Given the description of an element on the screen output the (x, y) to click on. 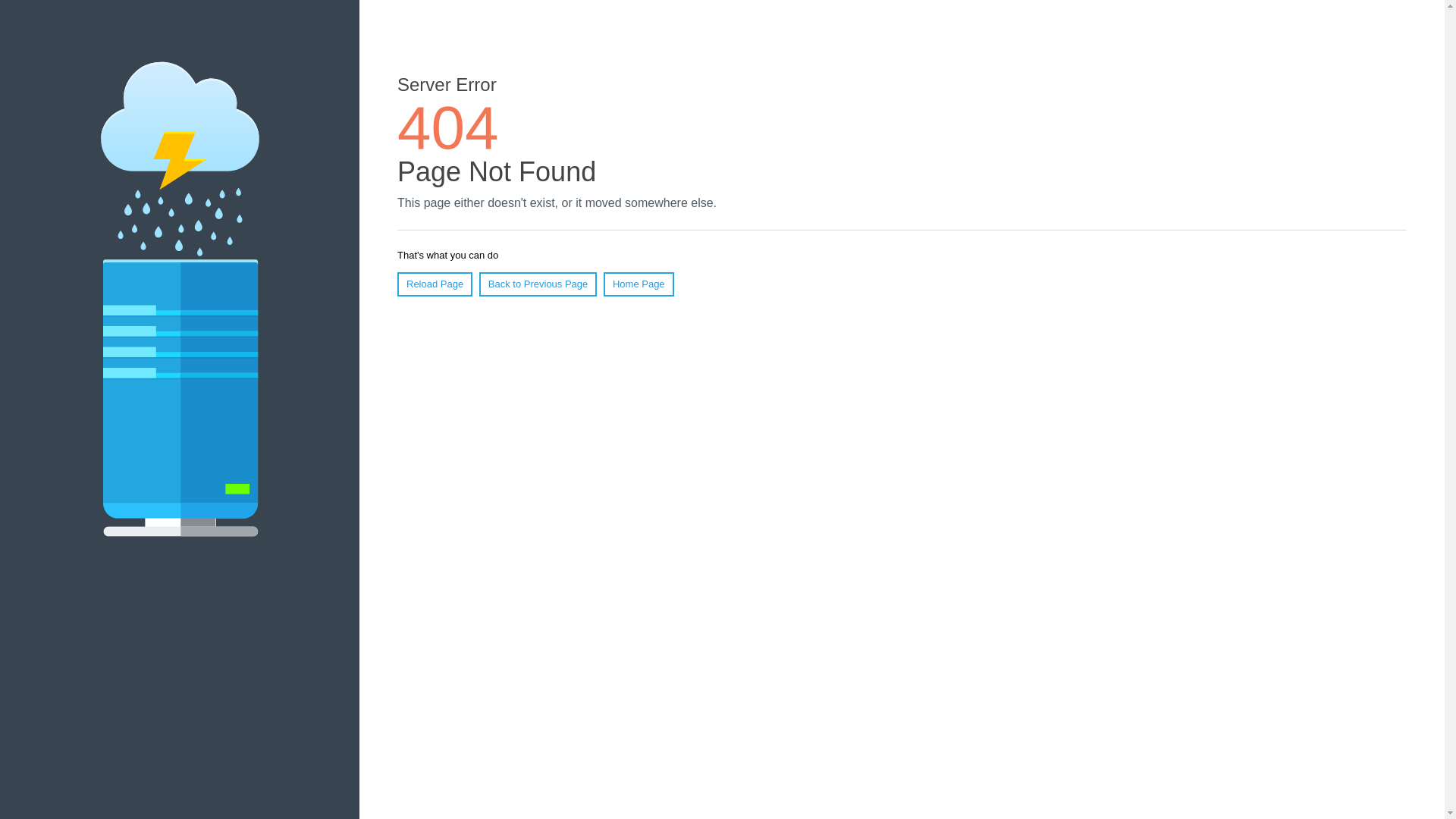
Back to Previous Page Element type: text (538, 284)
Reload Page Element type: text (434, 284)
Home Page Element type: text (638, 284)
